Given the description of an element on the screen output the (x, y) to click on. 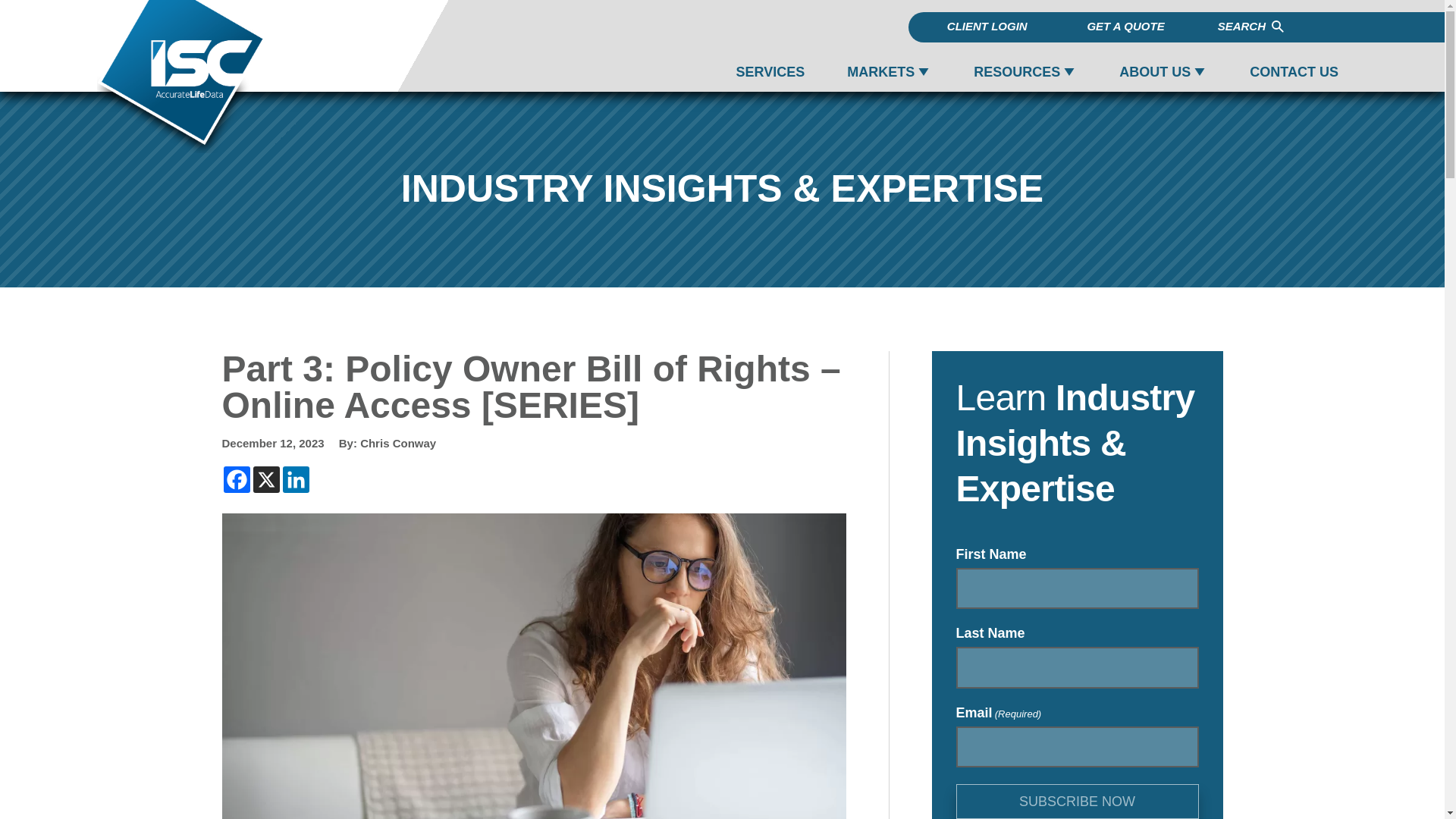
MARKETS (880, 72)
CONTACT US (1293, 72)
SEARCH (1251, 26)
SERVICES (770, 72)
ABOUT US (1155, 72)
Subscribe Now (1076, 801)
CLIENT LOGIN (987, 25)
GET A QUOTE (1124, 25)
RESOURCES (1016, 72)
Linkedin (295, 479)
Facebook (235, 479)
X (266, 479)
